Given the description of an element on the screen output the (x, y) to click on. 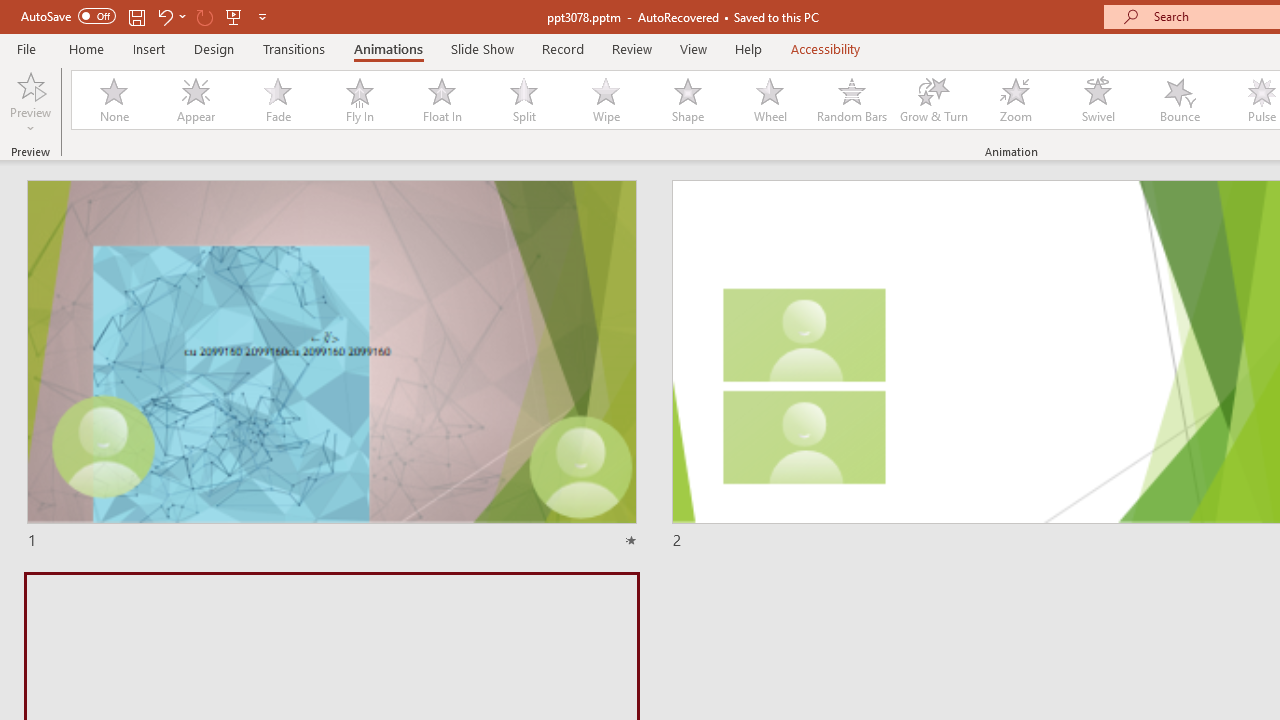
None (113, 100)
Appear (195, 100)
Fade (277, 100)
Random Bars (852, 100)
Shape (687, 100)
Fly In (359, 100)
